Given the description of an element on the screen output the (x, y) to click on. 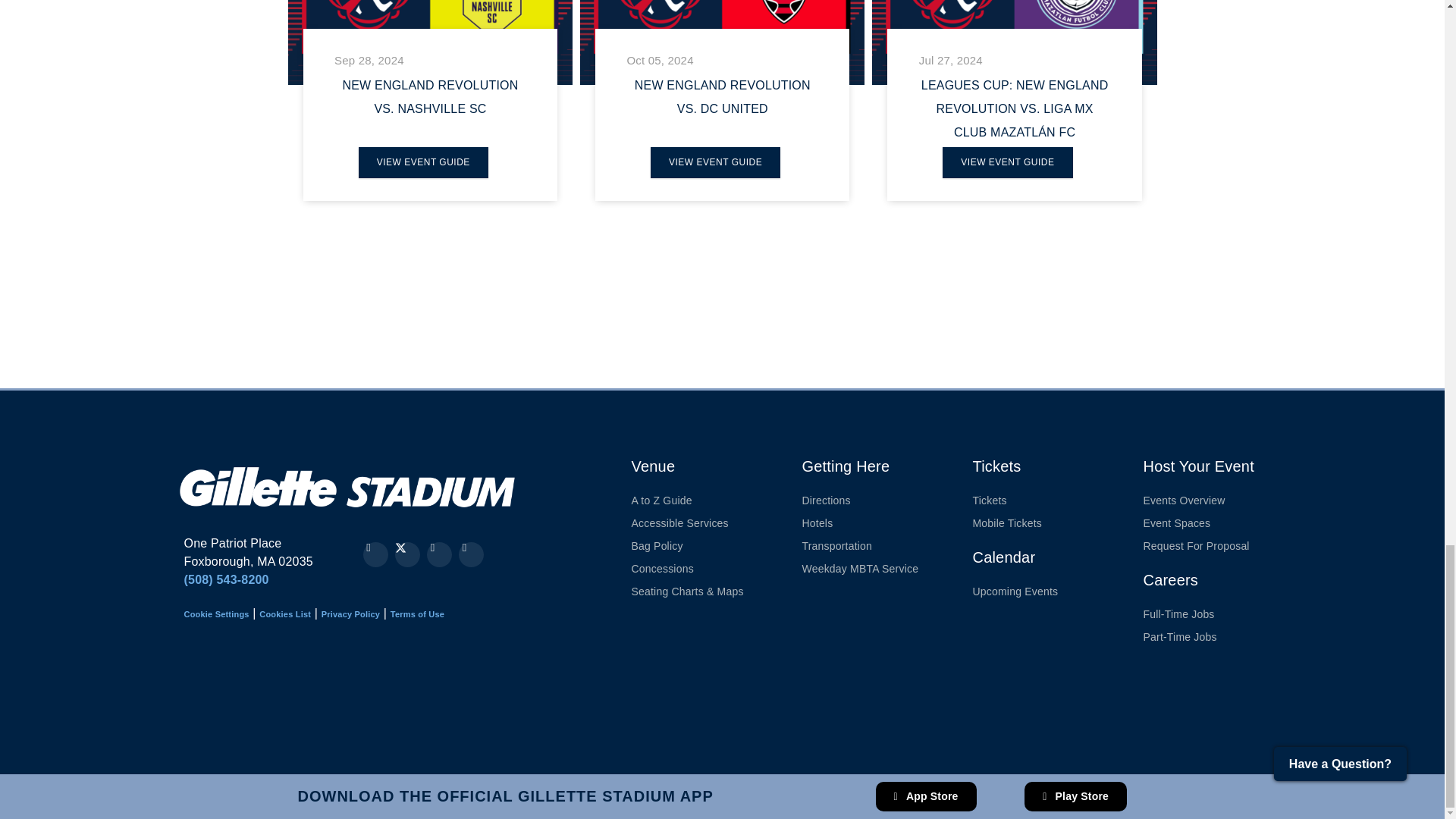
3rd party ad content (604, 317)
3rd party ad content (238, 697)
3rd party ad content (579, 697)
3rd party ad content (409, 697)
3rd party ad content (751, 697)
3rd party ad content (1002, 317)
